Given the description of an element on the screen output the (x, y) to click on. 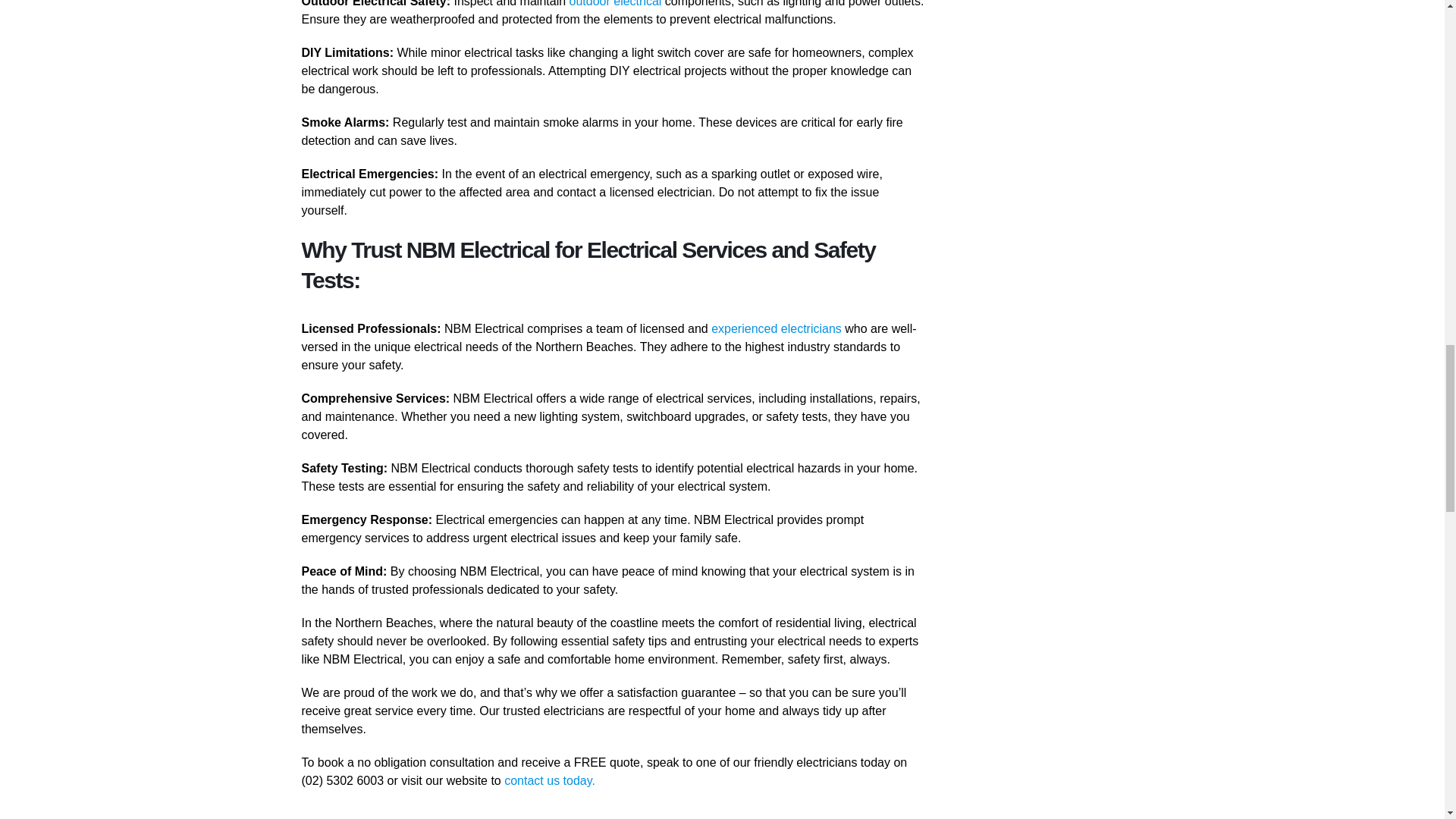
experienced electricians (776, 328)
contact us today. (549, 780)
outdoor electrical (615, 3)
